Given the description of an element on the screen output the (x, y) to click on. 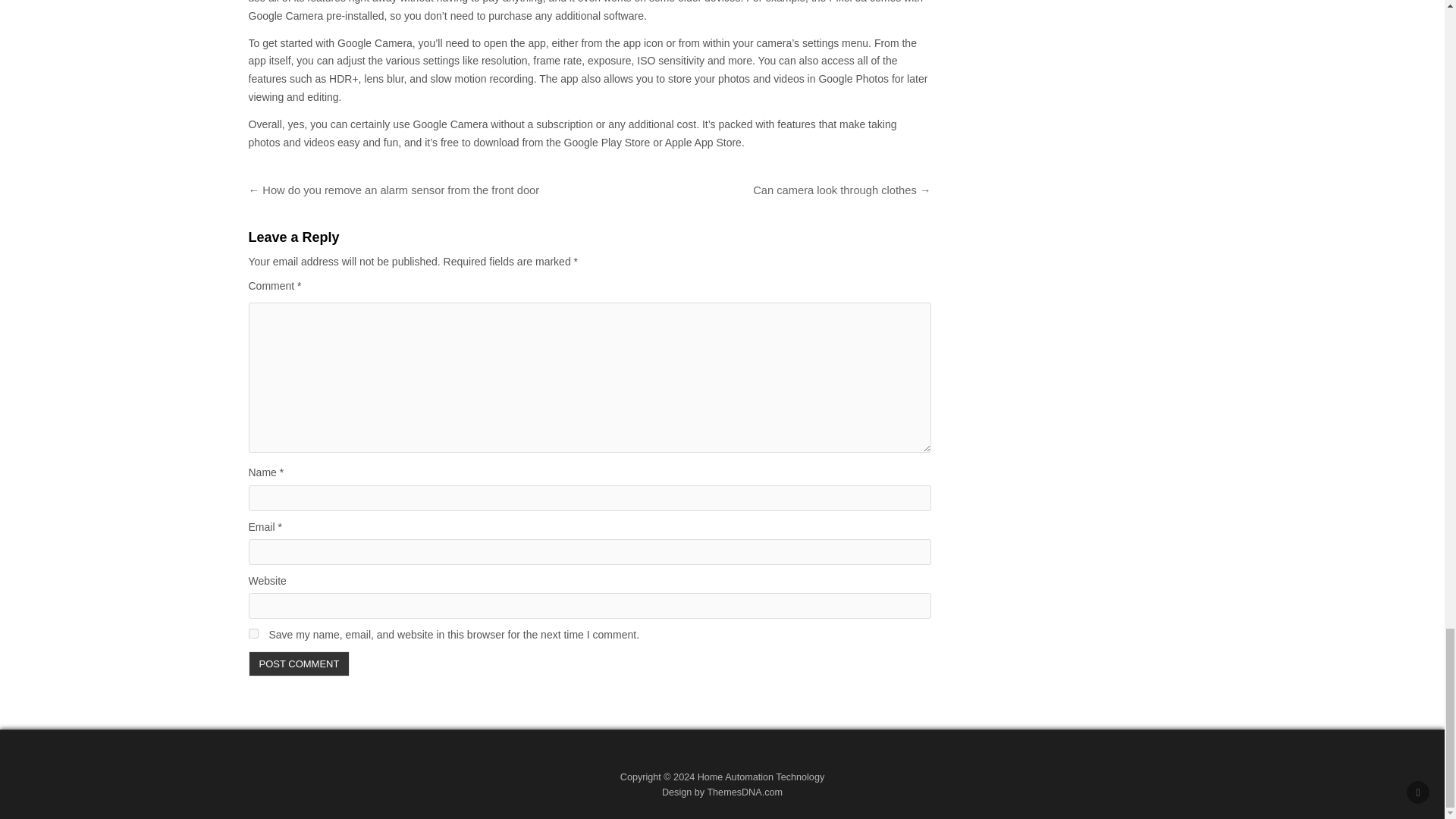
Post Comment (299, 663)
Design by ThemesDNA.com (722, 792)
Post Comment (299, 663)
yes (253, 633)
